Given the description of an element on the screen output the (x, y) to click on. 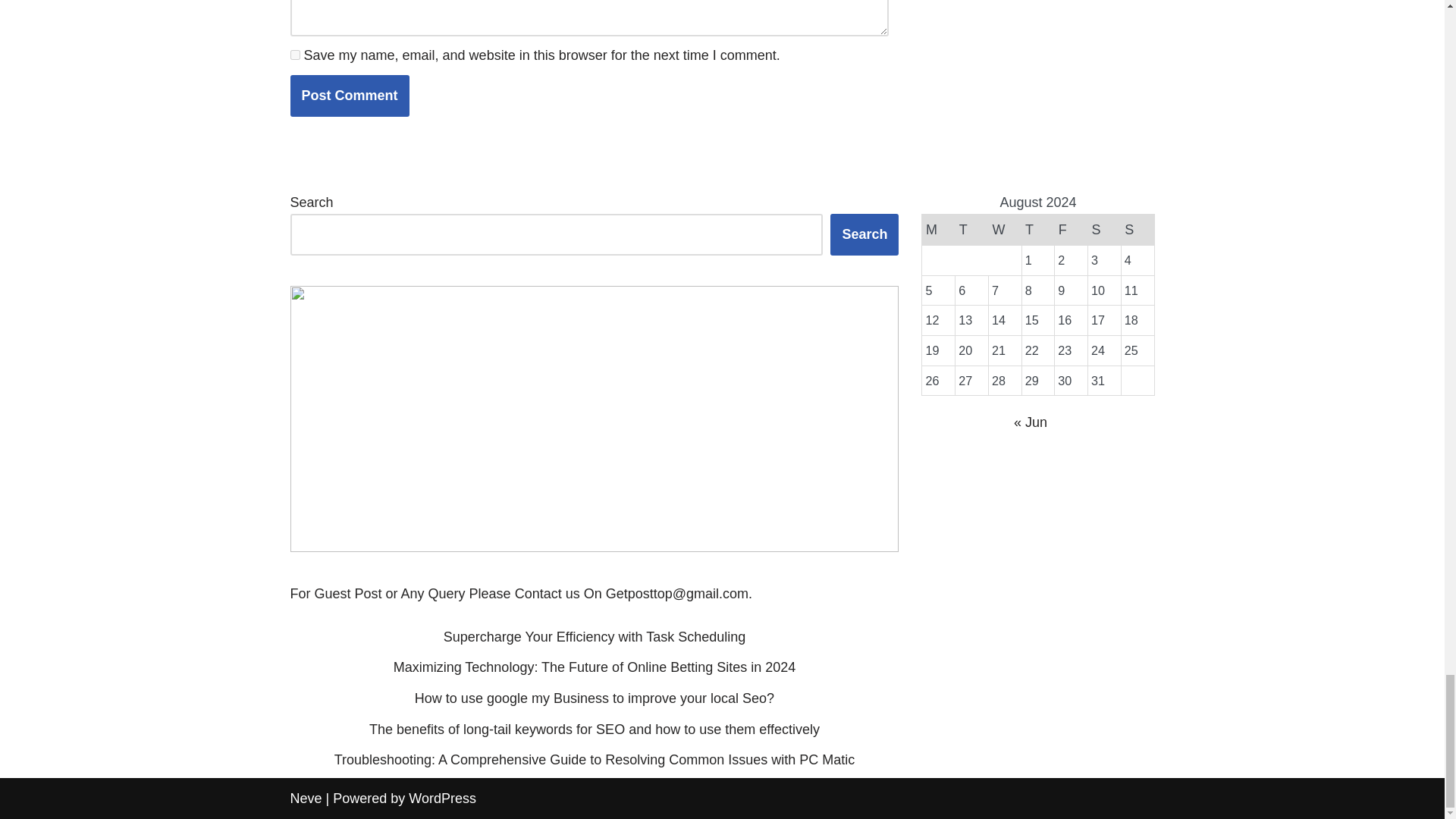
yes (294, 54)
Post Comment (349, 96)
Saturday (1104, 229)
Tuesday (971, 229)
Thursday (1038, 229)
Friday (1070, 229)
Wednesday (1005, 229)
Monday (938, 229)
